Given the description of an element on the screen output the (x, y) to click on. 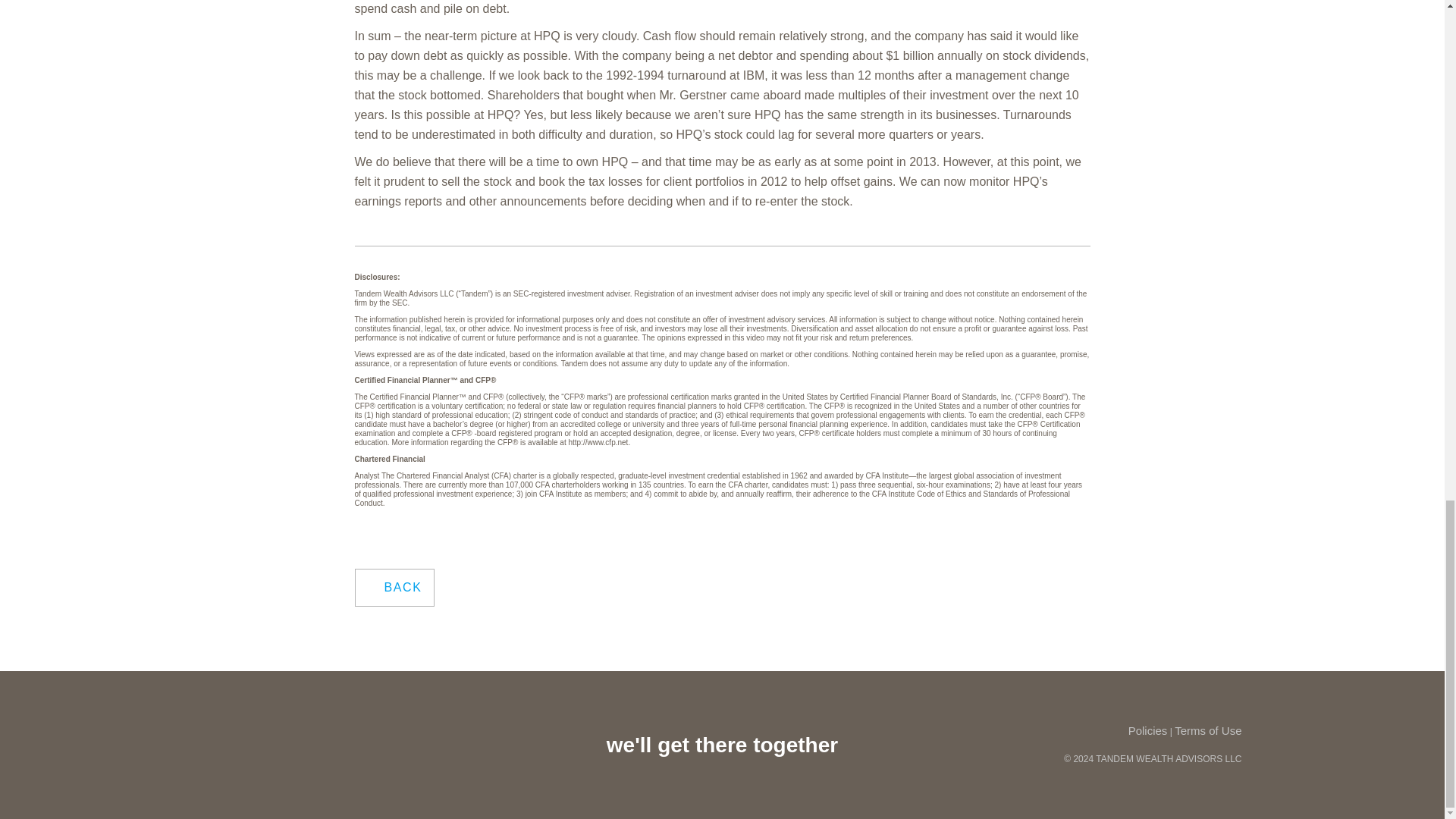
BACK (395, 587)
Terms of Use (1207, 730)
Policies (1147, 730)
